Given the description of an element on the screen output the (x, y) to click on. 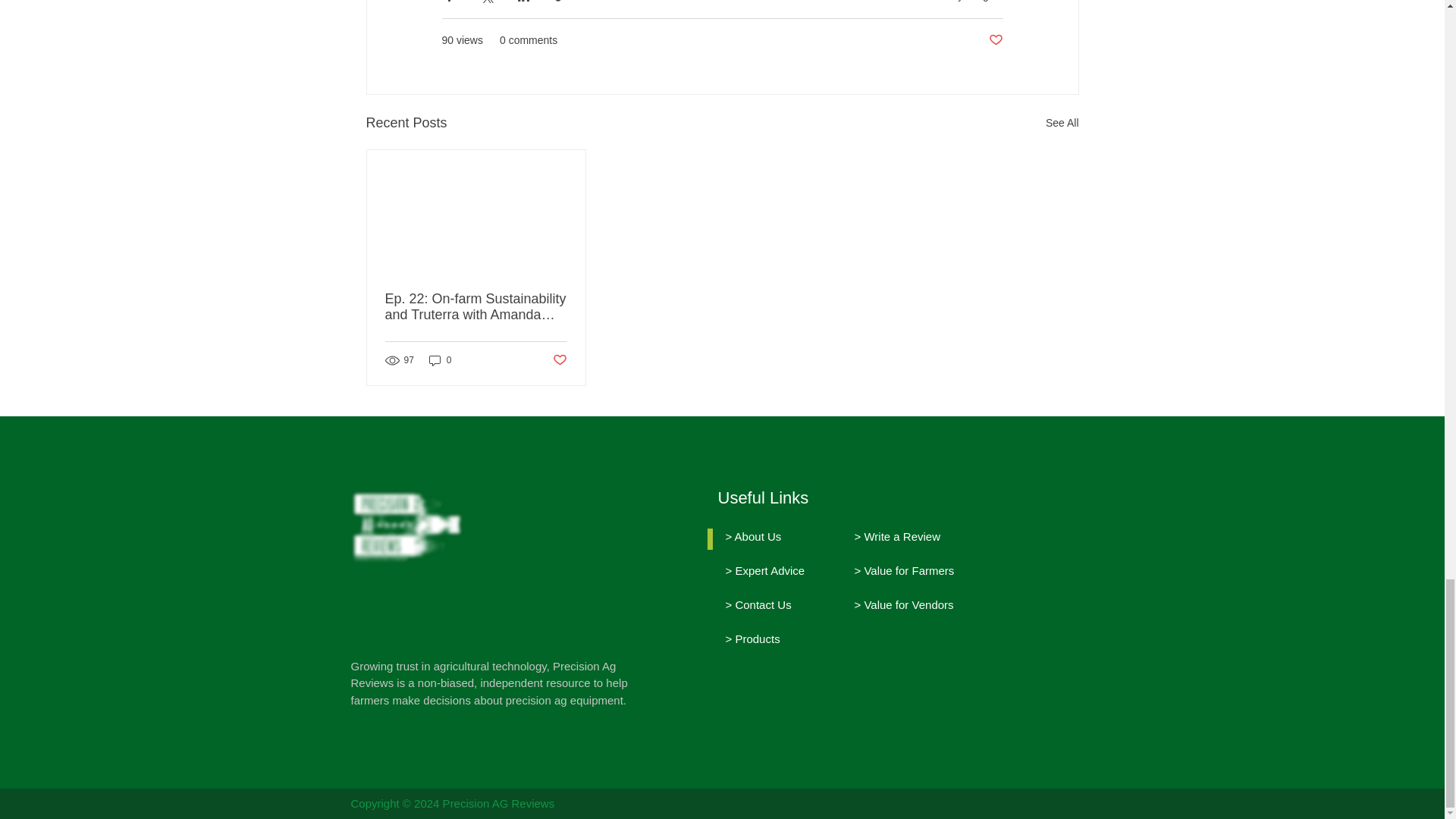
See All (1061, 123)
0 (440, 359)
Industry Insights (964, 0)
Post not marked as liked (995, 40)
